Given the description of an element on the screen output the (x, y) to click on. 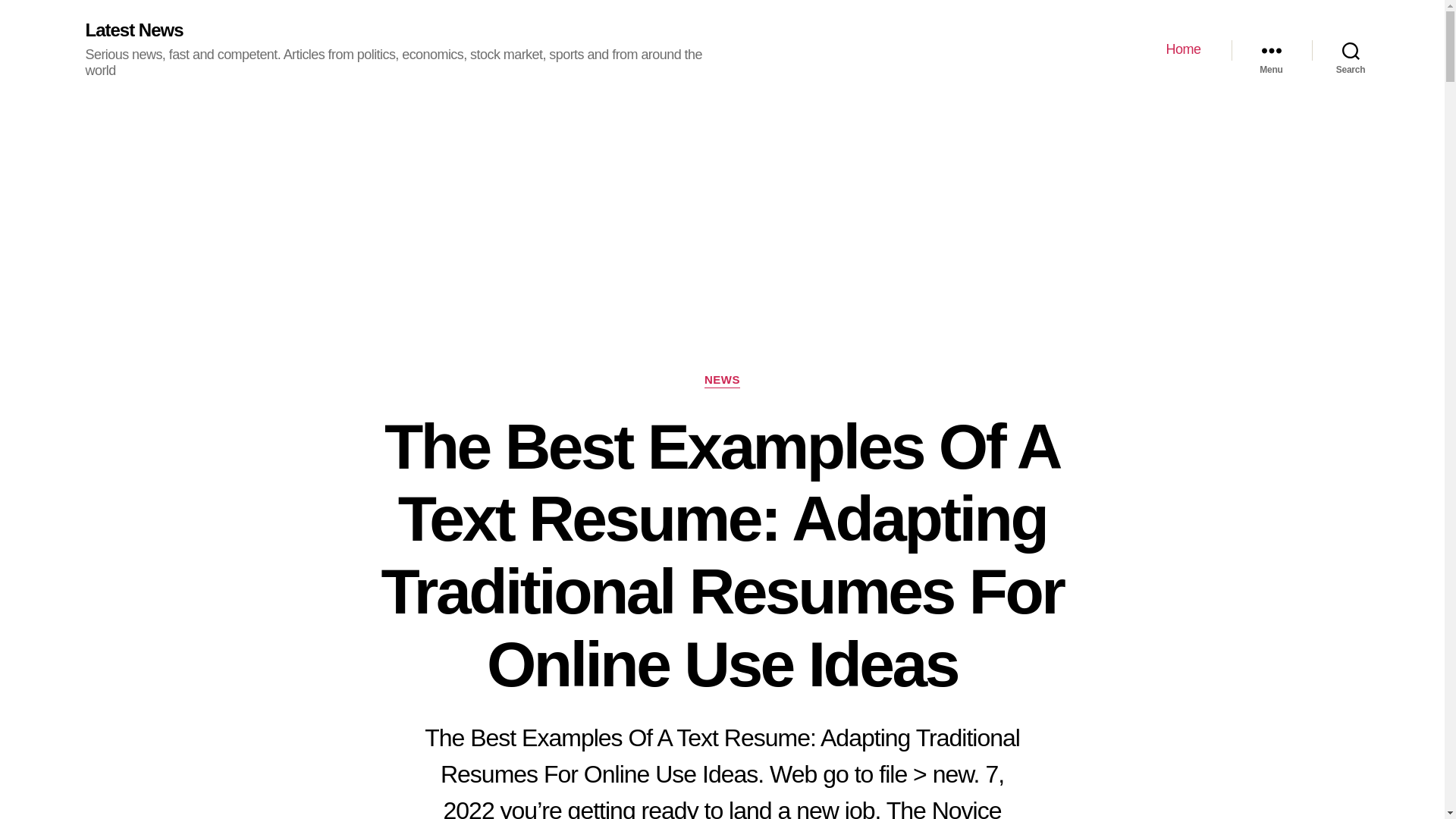
Latest News (133, 30)
NEWS (721, 380)
Menu (1271, 49)
Home (1182, 49)
Search (1350, 49)
